Given the description of an element on the screen output the (x, y) to click on. 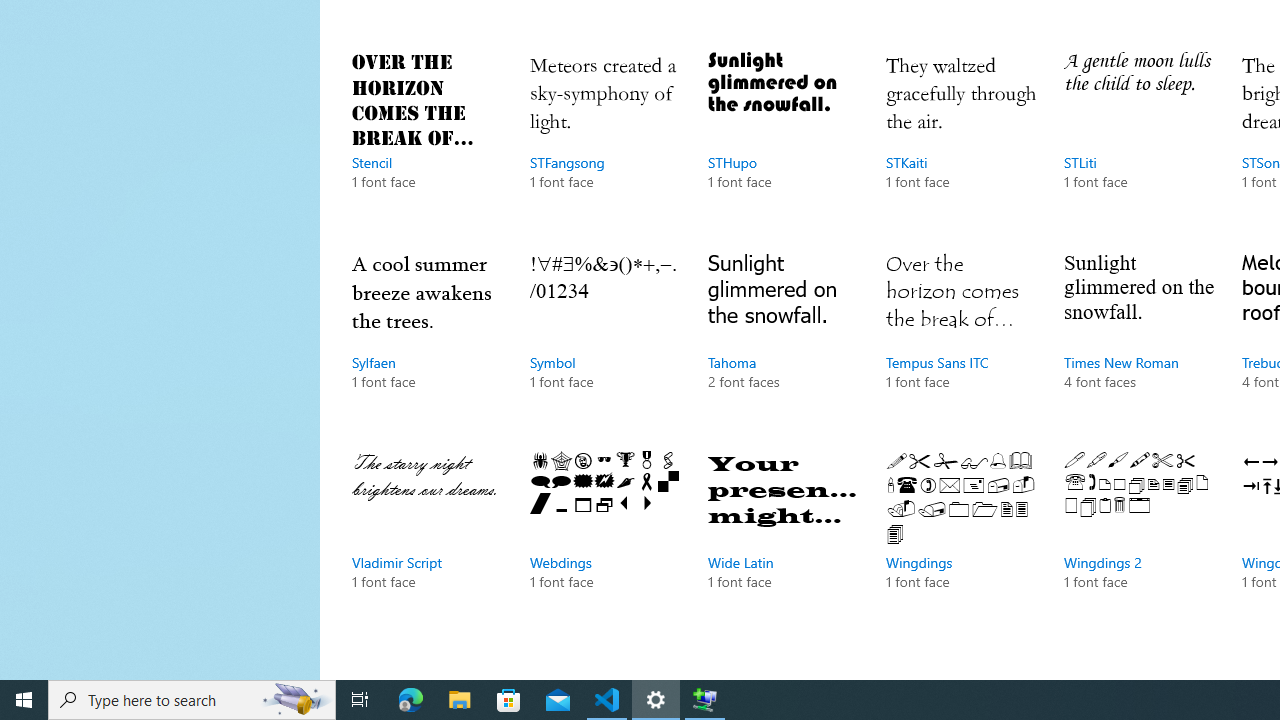
Search highlights icon opens search home window (295, 699)
Vladimir Script, 1 font face (426, 540)
Extensible Wizards Host Process - 1 running window (704, 699)
Wingdings, 1 font face (961, 540)
Wingdings 2, 1 font face (1138, 540)
Times New Roman, 4 font faces (1138, 340)
Symbol, 1 font face (604, 340)
Tempus Sans ITC, 1 font face (961, 340)
Task View (359, 699)
Stencil, 1 font face (426, 141)
STKaiti, 1 font face (961, 141)
